Given the description of an element on the screen output the (x, y) to click on. 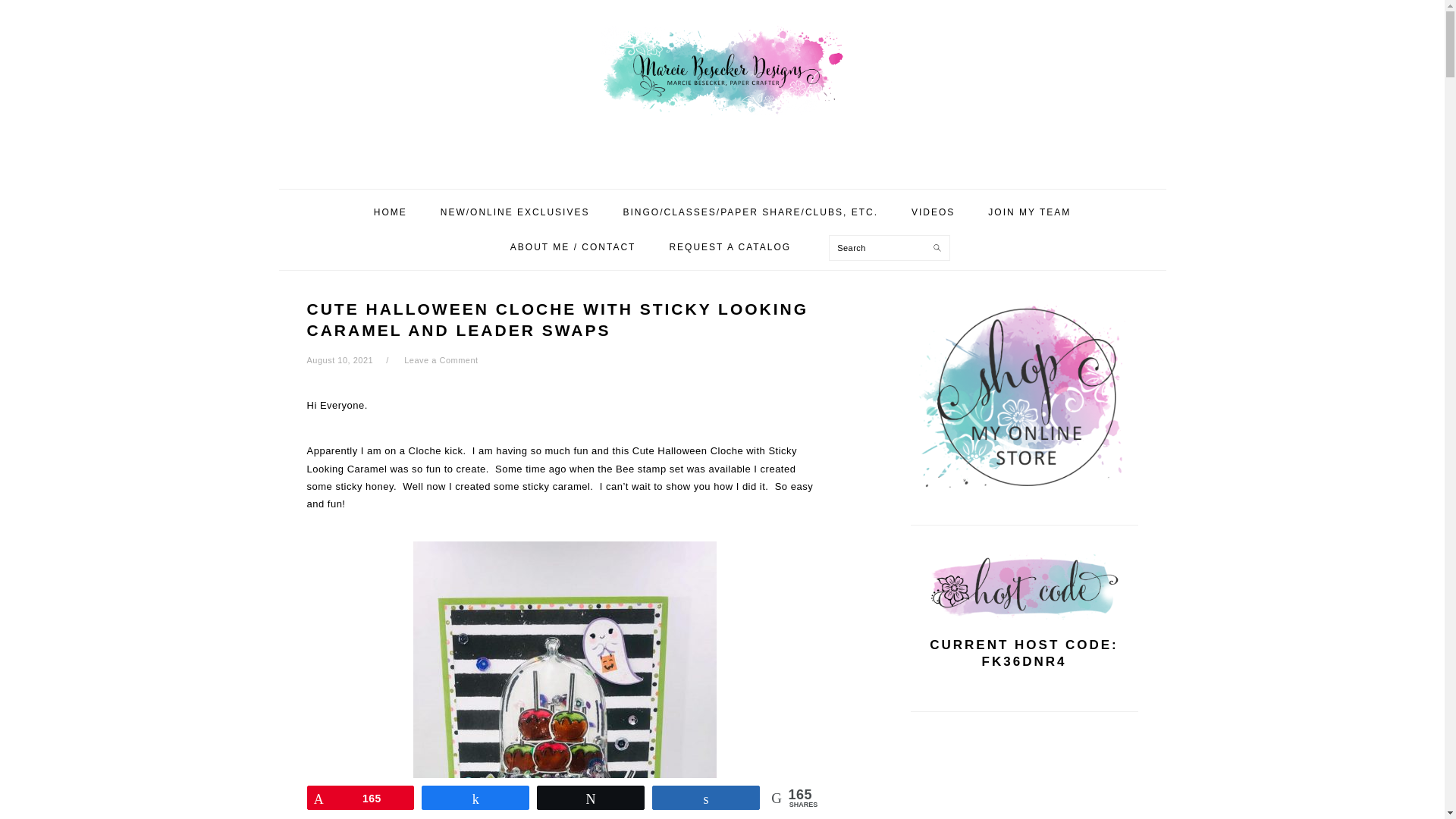
REQUEST A CATALOG (729, 247)
Leave a Comment (440, 359)
MARCIE BESECKER DESIGNS (721, 89)
JOIN MY TEAM (1029, 212)
HOME (390, 212)
VIDEOS (933, 212)
